Given the description of an element on the screen output the (x, y) to click on. 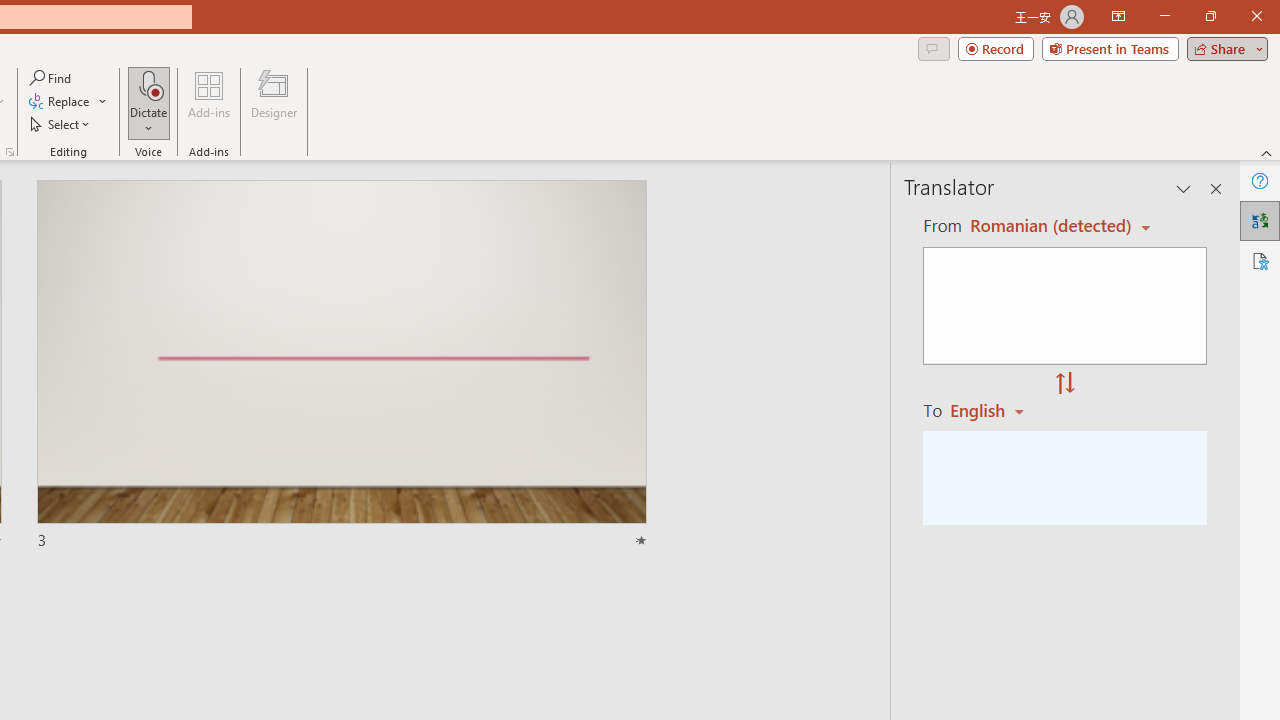
Czech (detected) (1047, 225)
Romanian (994, 409)
Find... (51, 78)
